Given the description of an element on the screen output the (x, y) to click on. 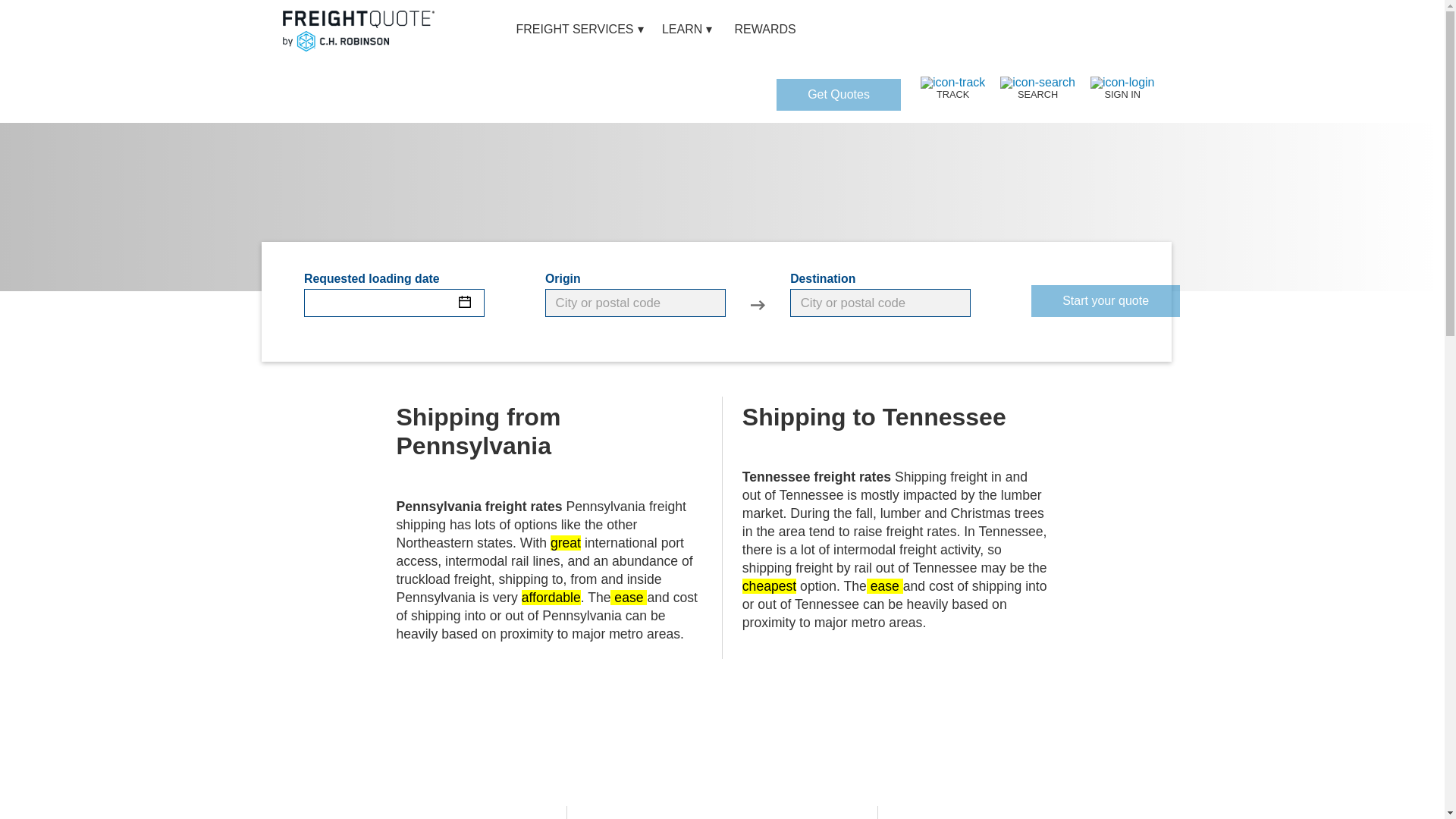
Start your quote (1104, 300)
FREIGHT SERVICES (574, 31)
SEARCH (1037, 88)
SIGN IN (1122, 88)
TRACK (952, 88)
REWARDS (765, 31)
Get Quotes (838, 94)
